Given the description of an element on the screen output the (x, y) to click on. 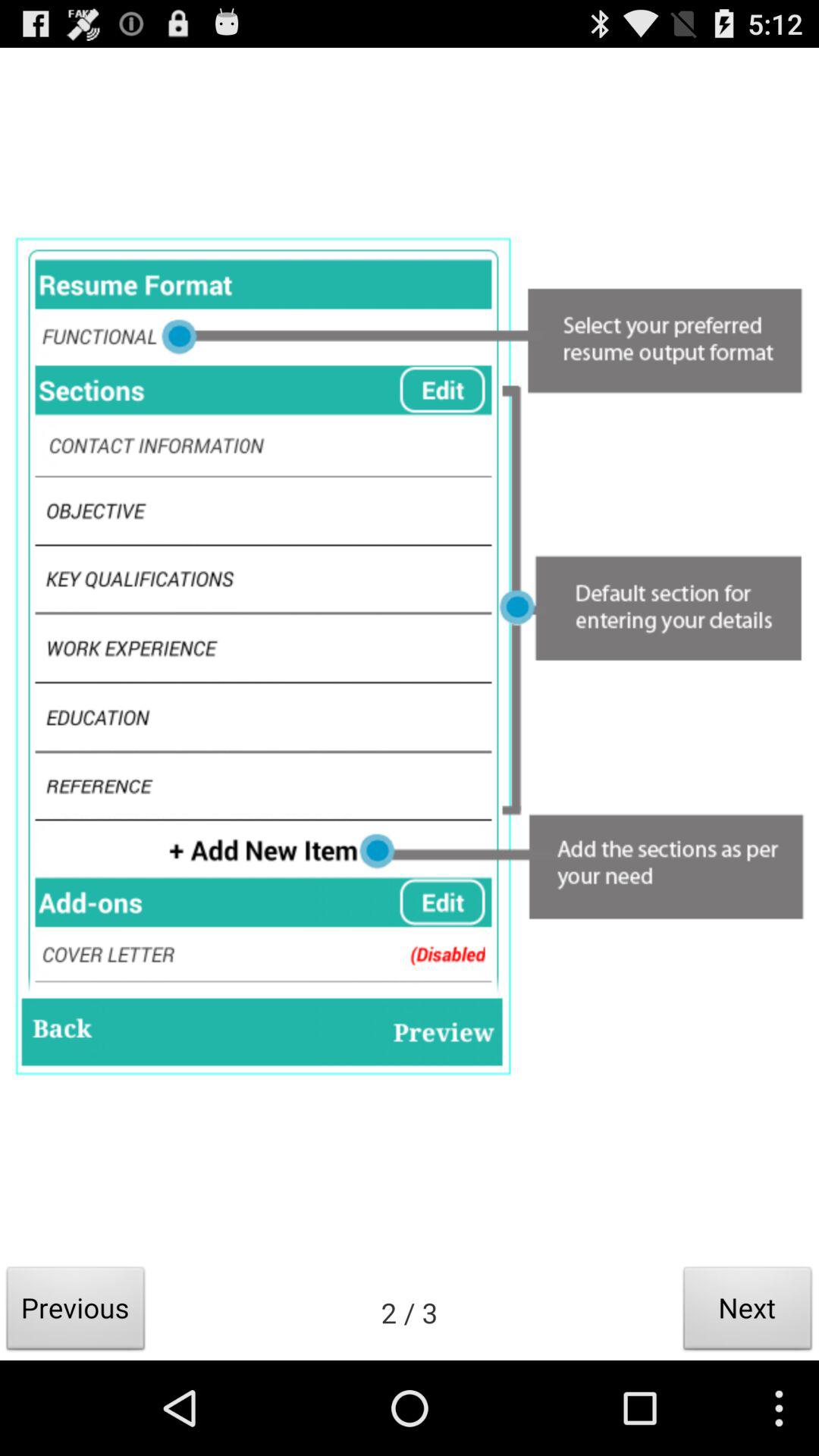
flip to previous button (75, 1312)
